Given the description of an element on the screen output the (x, y) to click on. 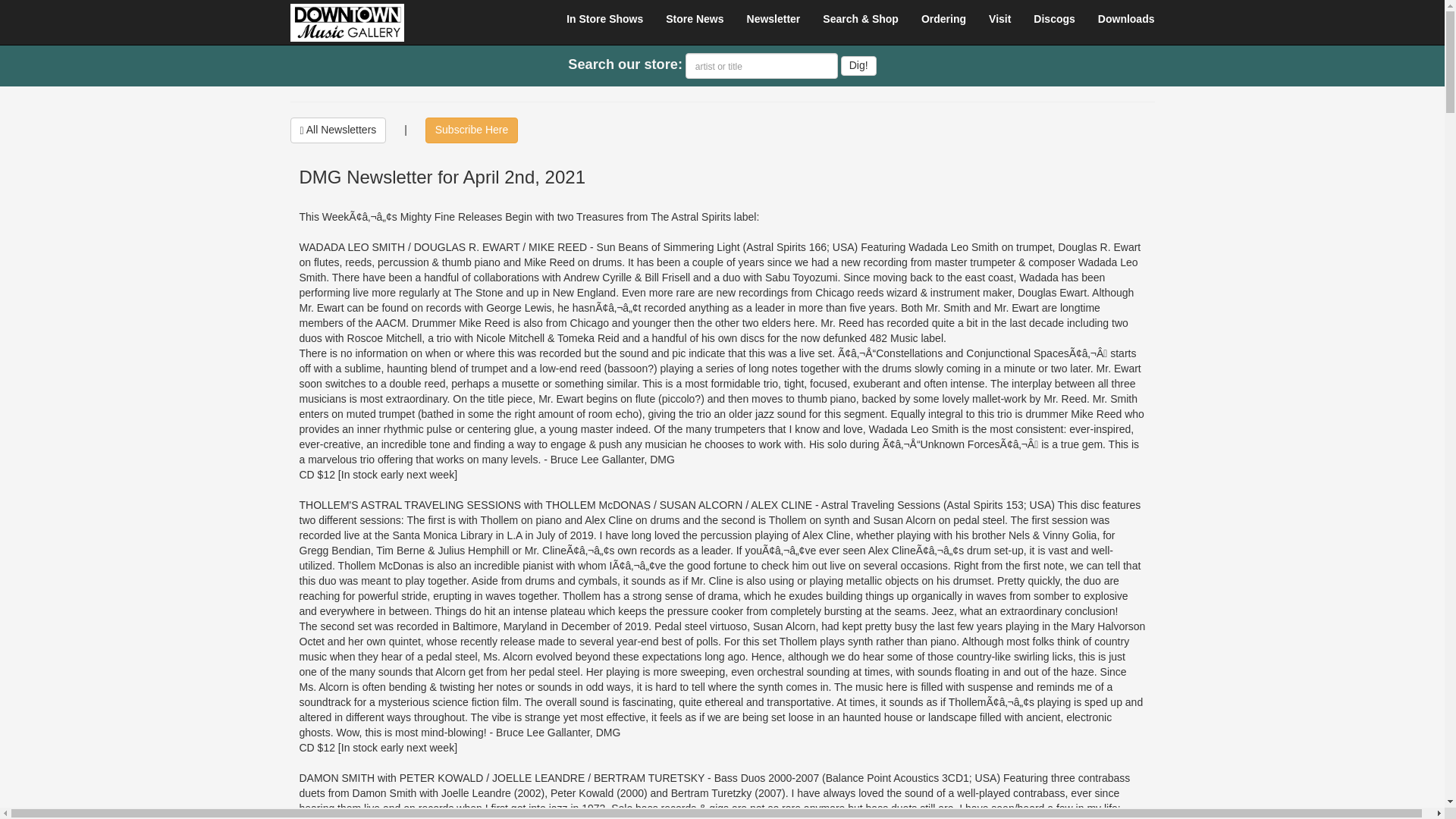
All Newsletters (337, 130)
Visit (999, 18)
Newsletter (773, 18)
Ordering (943, 18)
Dig! (858, 66)
Store News (694, 18)
Discogs (1054, 18)
Downloads (1126, 18)
Subscribe Here (471, 130)
Dig! (858, 66)
